Given the description of an element on the screen output the (x, y) to click on. 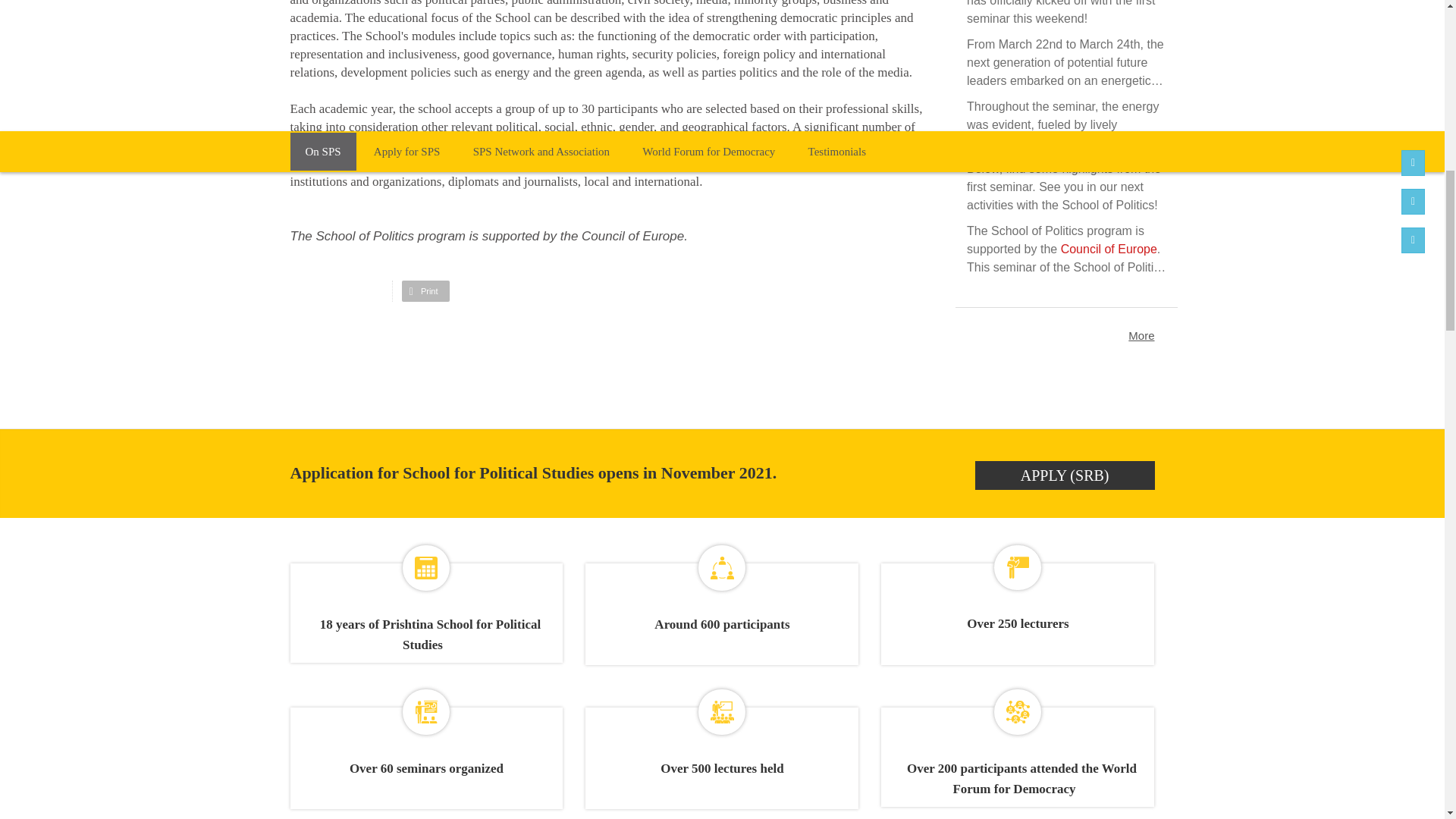
Apply for School of Politics  (1064, 475)
